Given the description of an element on the screen output the (x, y) to click on. 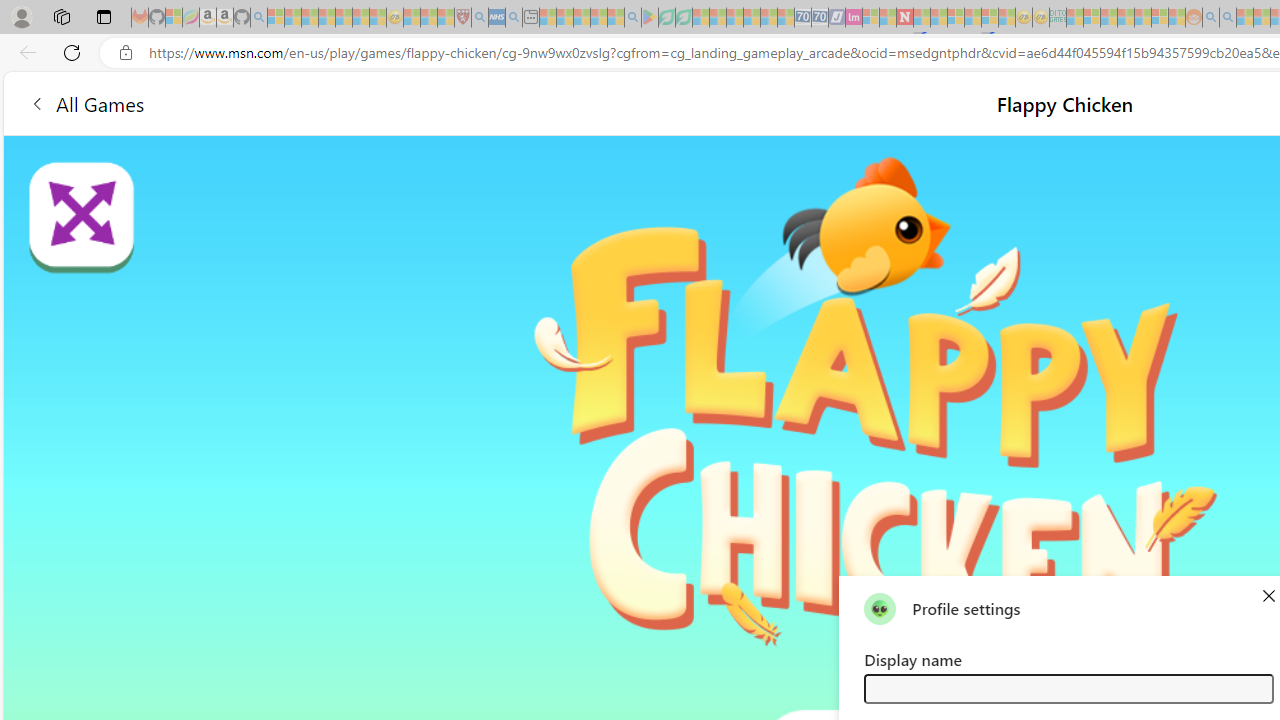
All Games (86, 102)
